Given the description of an element on the screen output the (x, y) to click on. 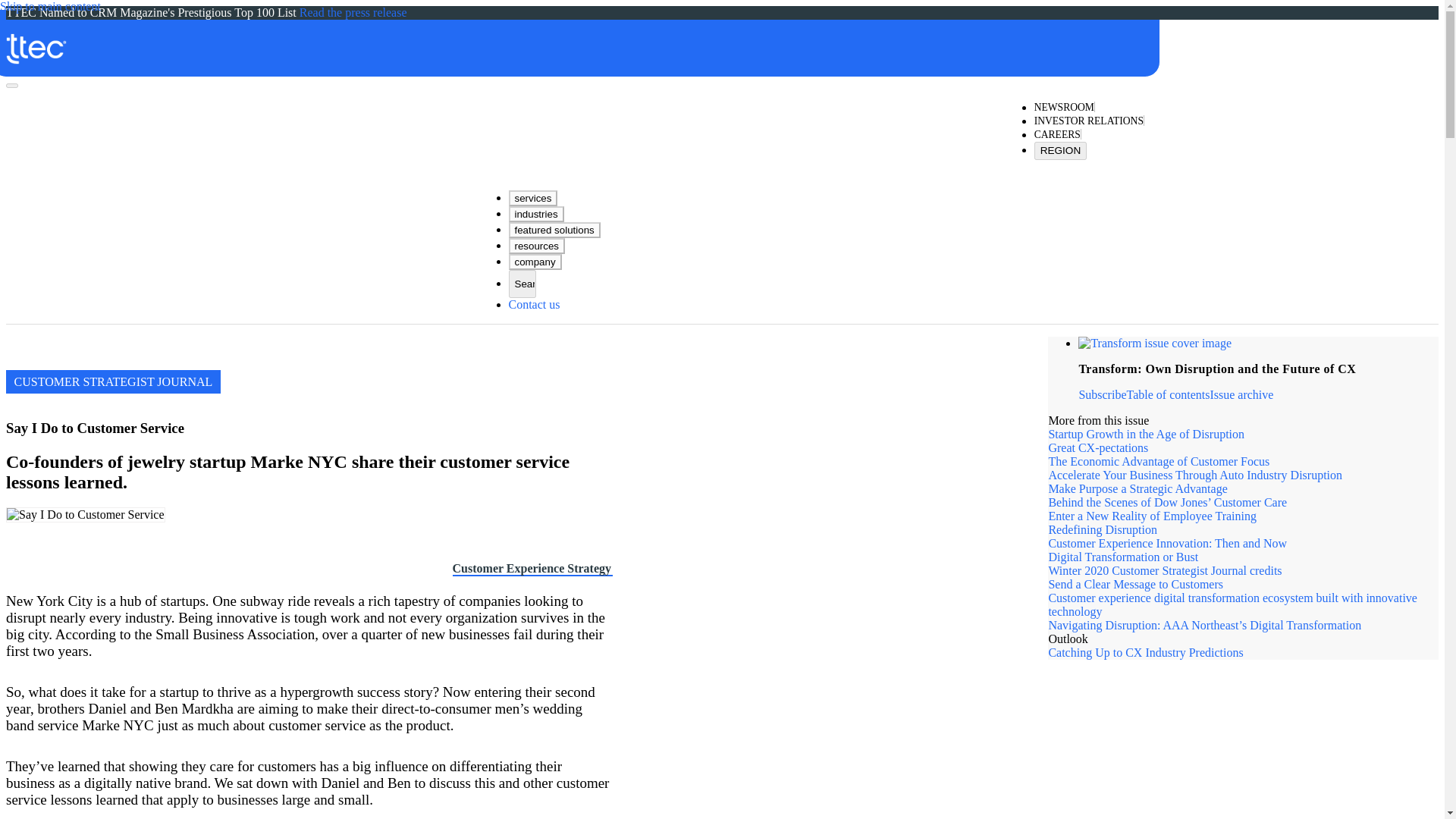
REGION (1060, 150)
Read the press release (353, 11)
Skip to main content (50, 6)
services (532, 198)
View TTEC homepage (573, 40)
INVESTOR RELATIONS (1087, 121)
CAREERS (1056, 134)
NEWSROOM (1063, 107)
